Given the description of an element on the screen output the (x, y) to click on. 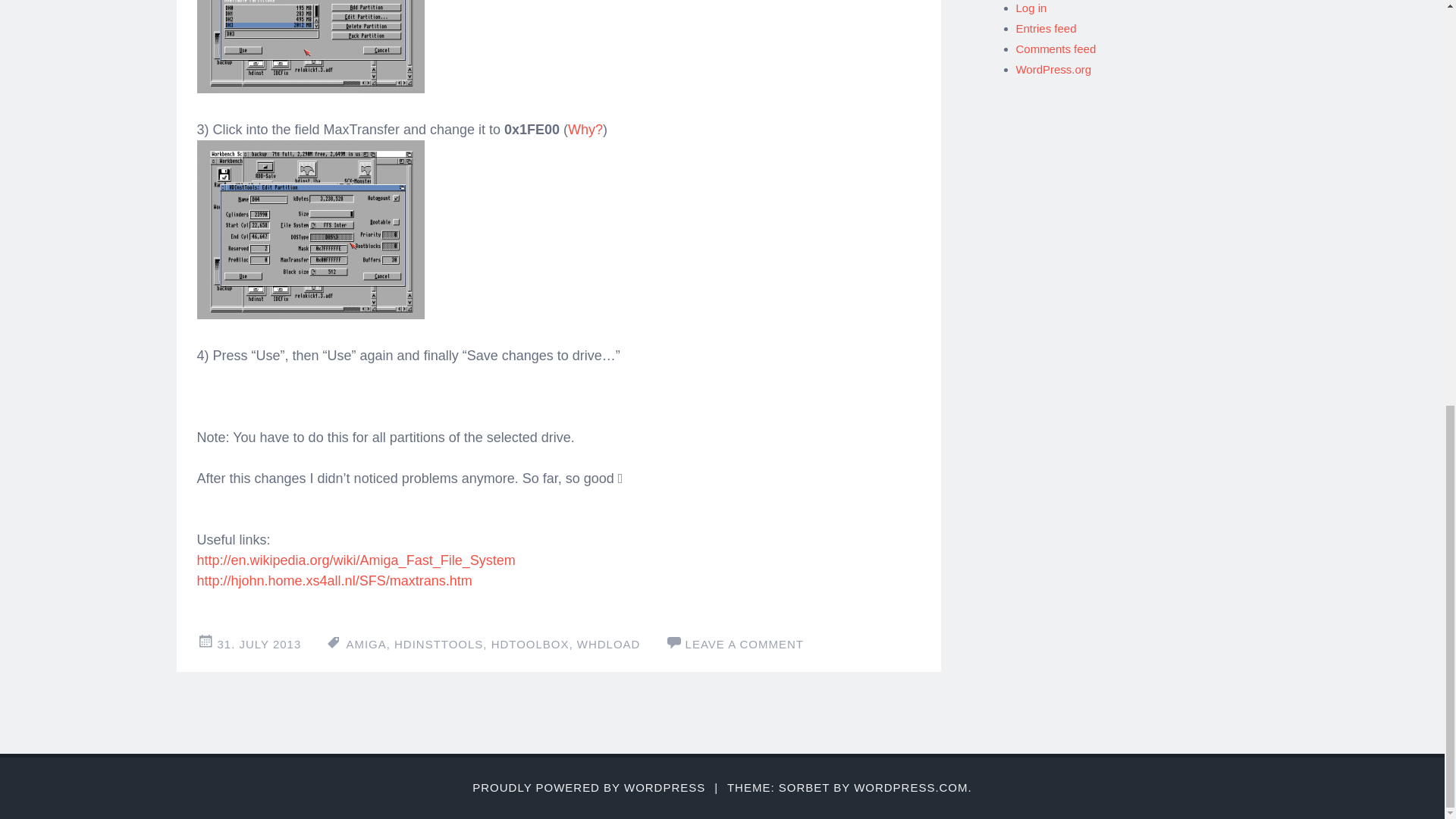
HDINSTTOOLS (438, 644)
31. JULY 2013 (258, 644)
11:02 (258, 644)
HDTOOLBOX (530, 644)
WHDLOAD (608, 644)
LEAVE A COMMENT (744, 644)
AMIGA (365, 644)
Why? (584, 129)
